Given the description of an element on the screen output the (x, y) to click on. 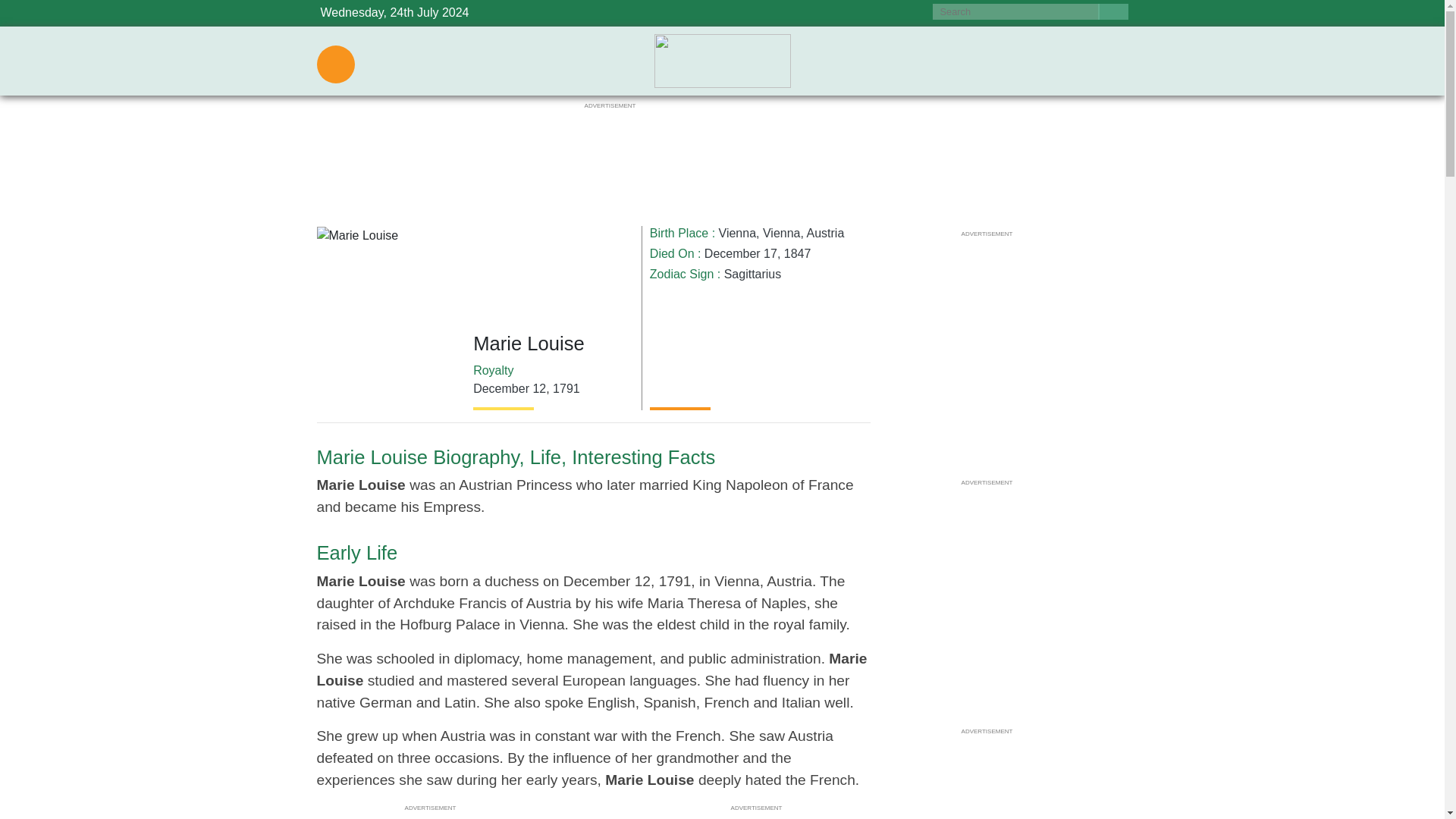
1847 (797, 253)
December 12 (509, 388)
1791 (566, 388)
Sagittarius (752, 273)
Zodiac Sign (681, 273)
Royalty (493, 369)
Austria (825, 232)
December 17 (740, 253)
Vienna (738, 232)
Vienna (781, 232)
